Given the description of an element on the screen output the (x, y) to click on. 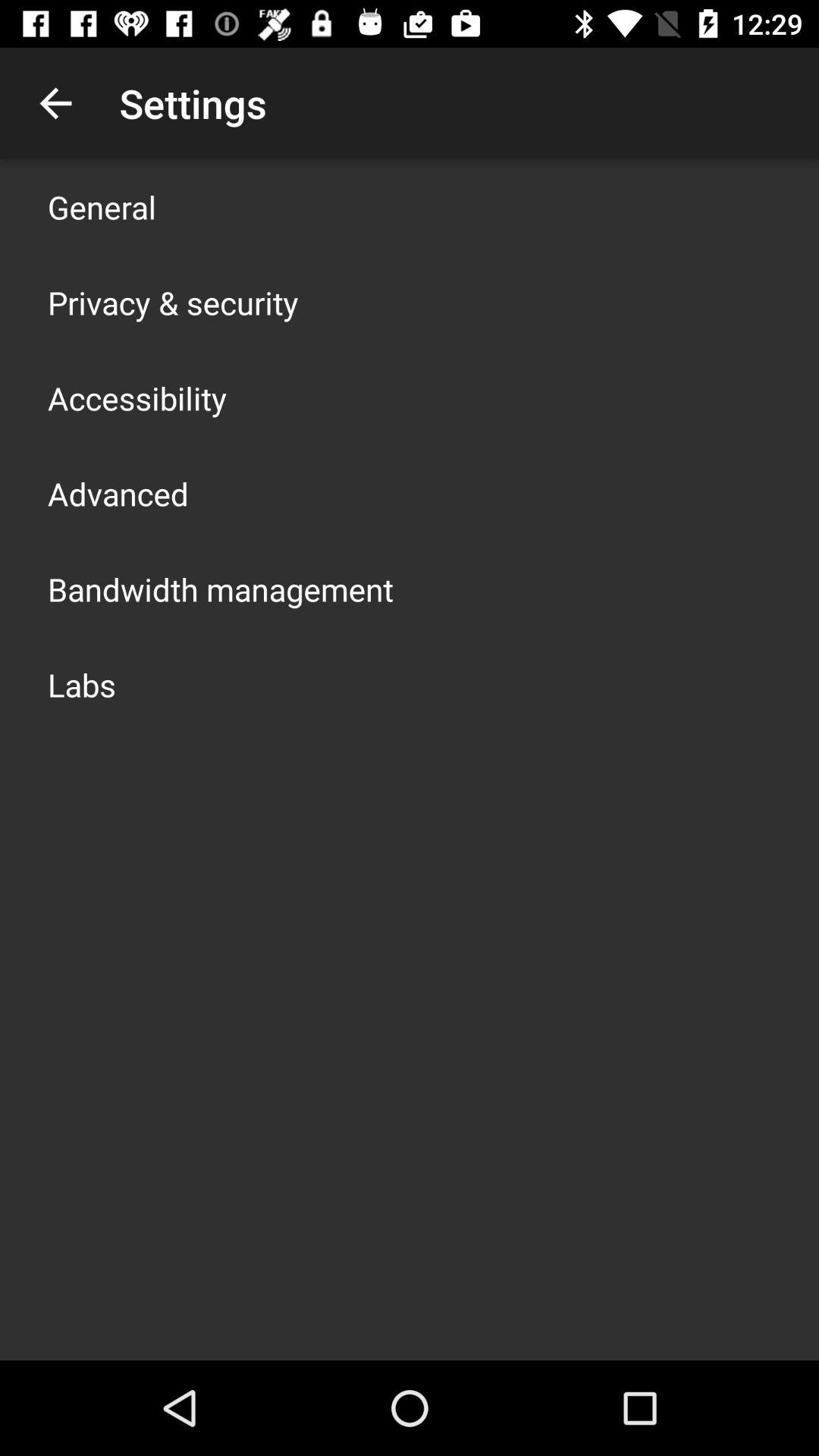
jump until labs (81, 684)
